Given the description of an element on the screen output the (x, y) to click on. 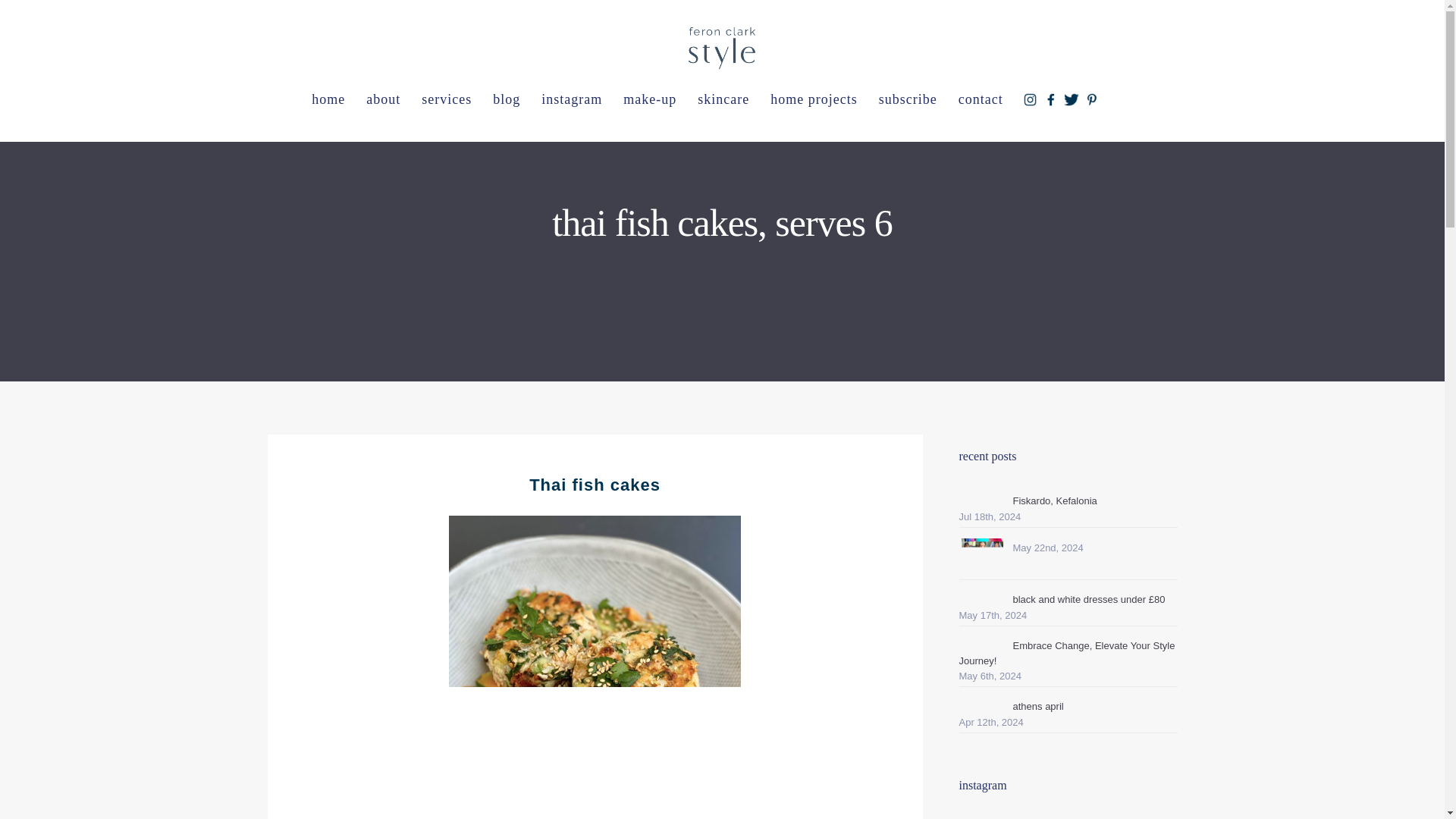
skincare (723, 99)
contact (980, 99)
blog (506, 99)
subscribe (907, 99)
home projects (813, 99)
services (445, 99)
home (328, 99)
make-up (649, 99)
about (382, 99)
instagram (571, 99)
